Given the description of an element on the screen output the (x, y) to click on. 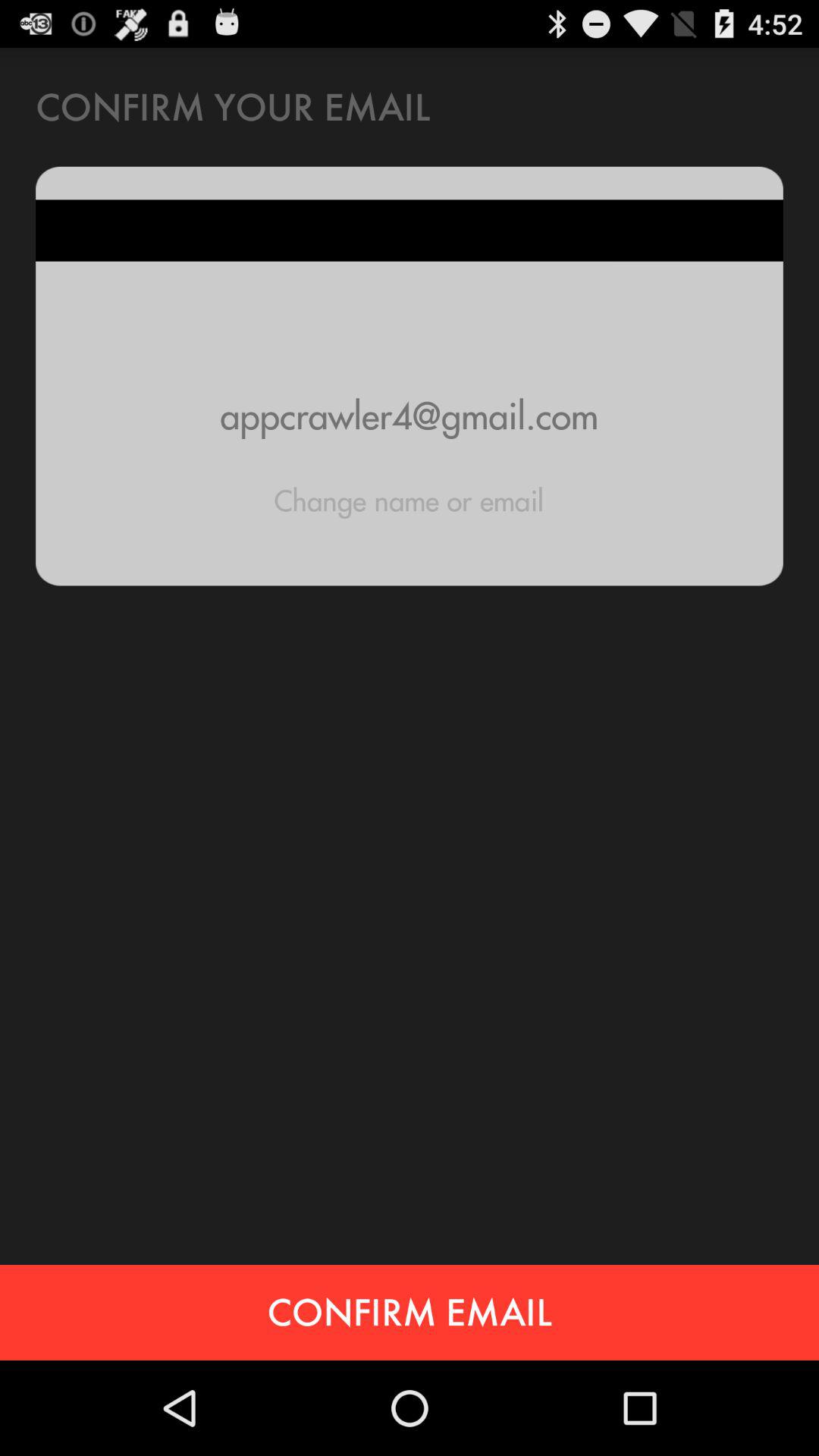
open change name or item (409, 500)
